Given the description of an element on the screen output the (x, y) to click on. 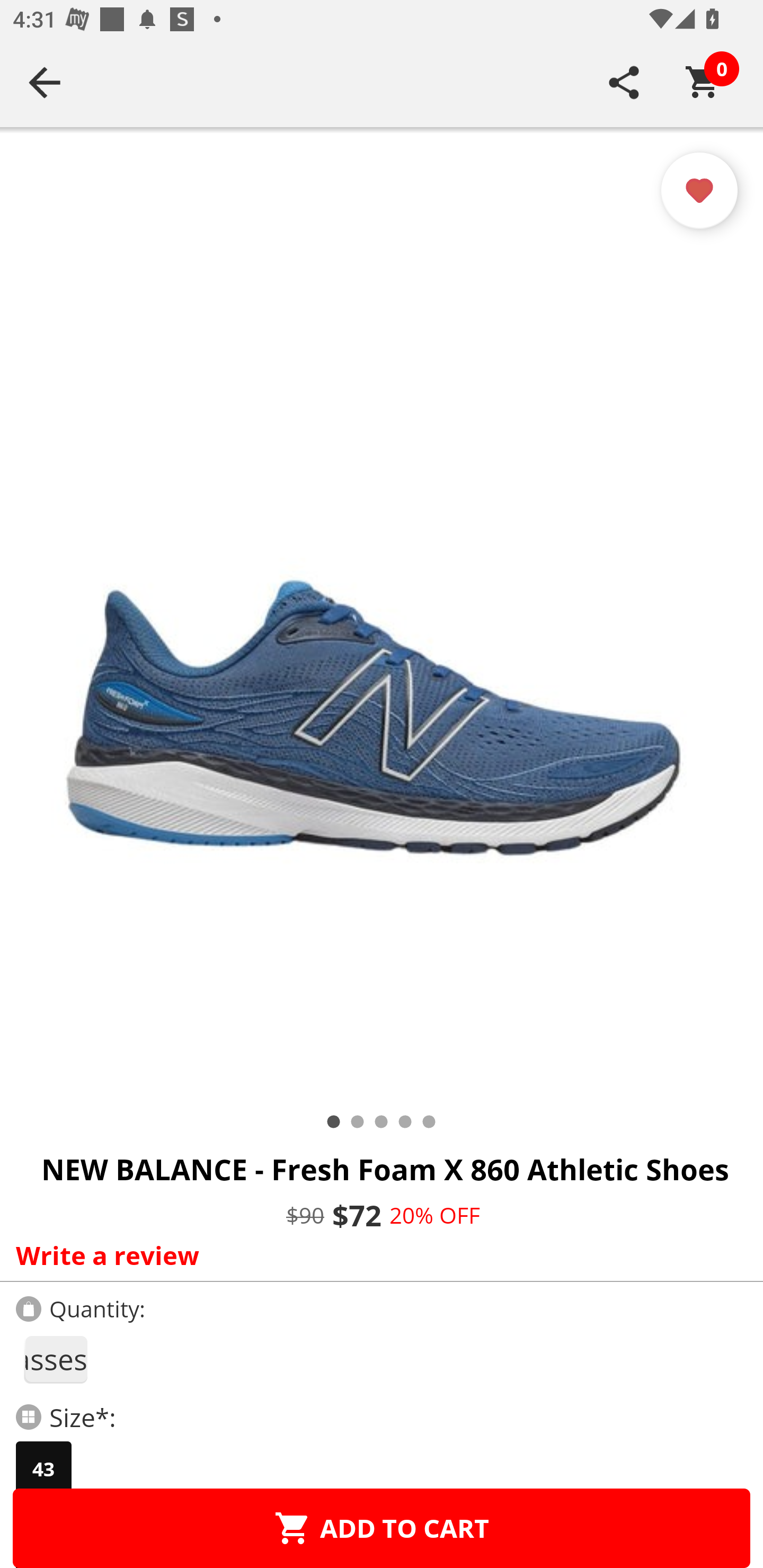
Navigate up (44, 82)
SHARE (623, 82)
Cart (703, 81)
Write a review (377, 1255)
1sunglasses (55, 1358)
43 (43, 1468)
ADD TO CART (381, 1528)
